Given the description of an element on the screen output the (x, y) to click on. 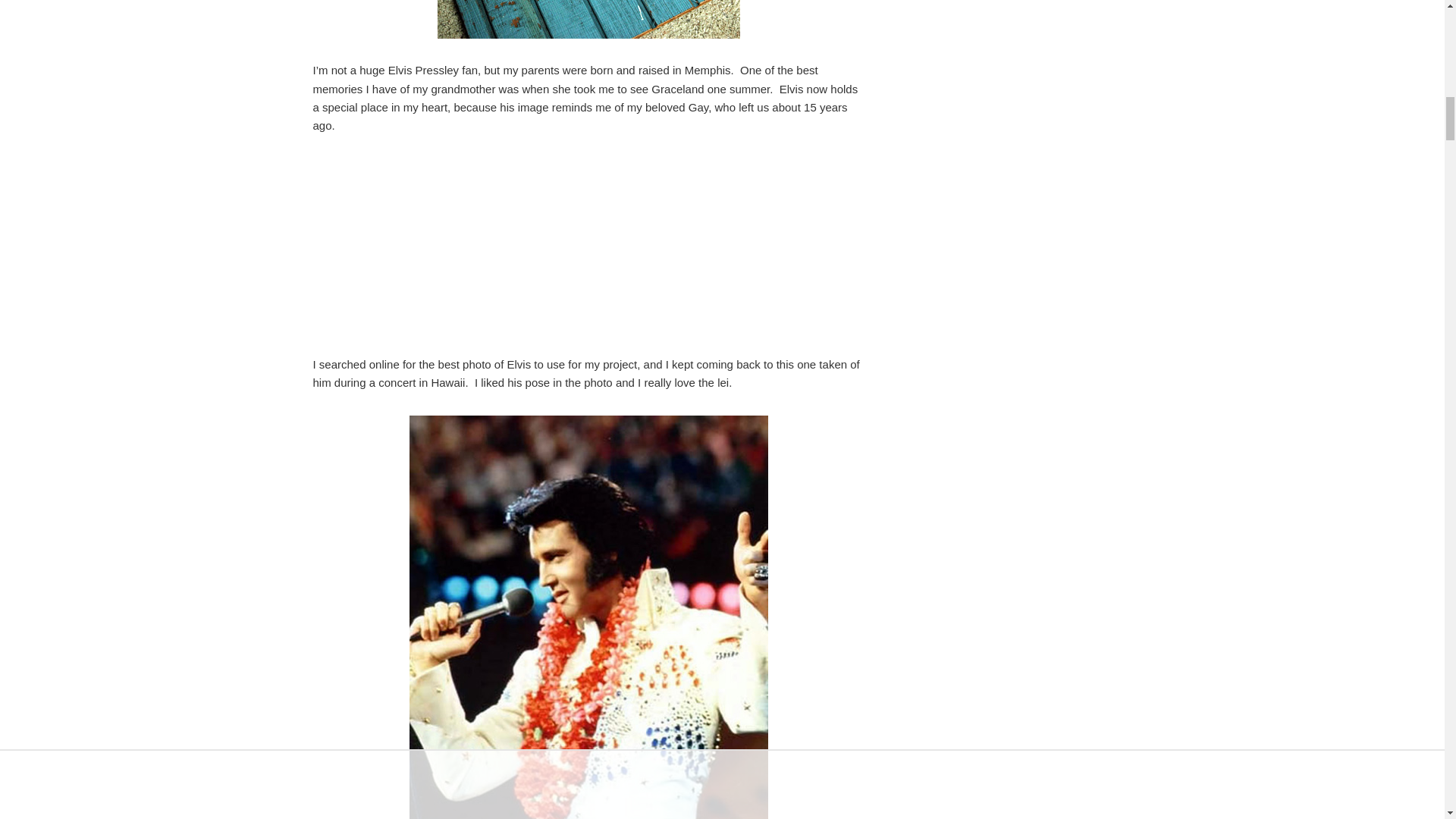
Old Siding from Habitat ReStore (588, 19)
